Given the description of an element on the screen output the (x, y) to click on. 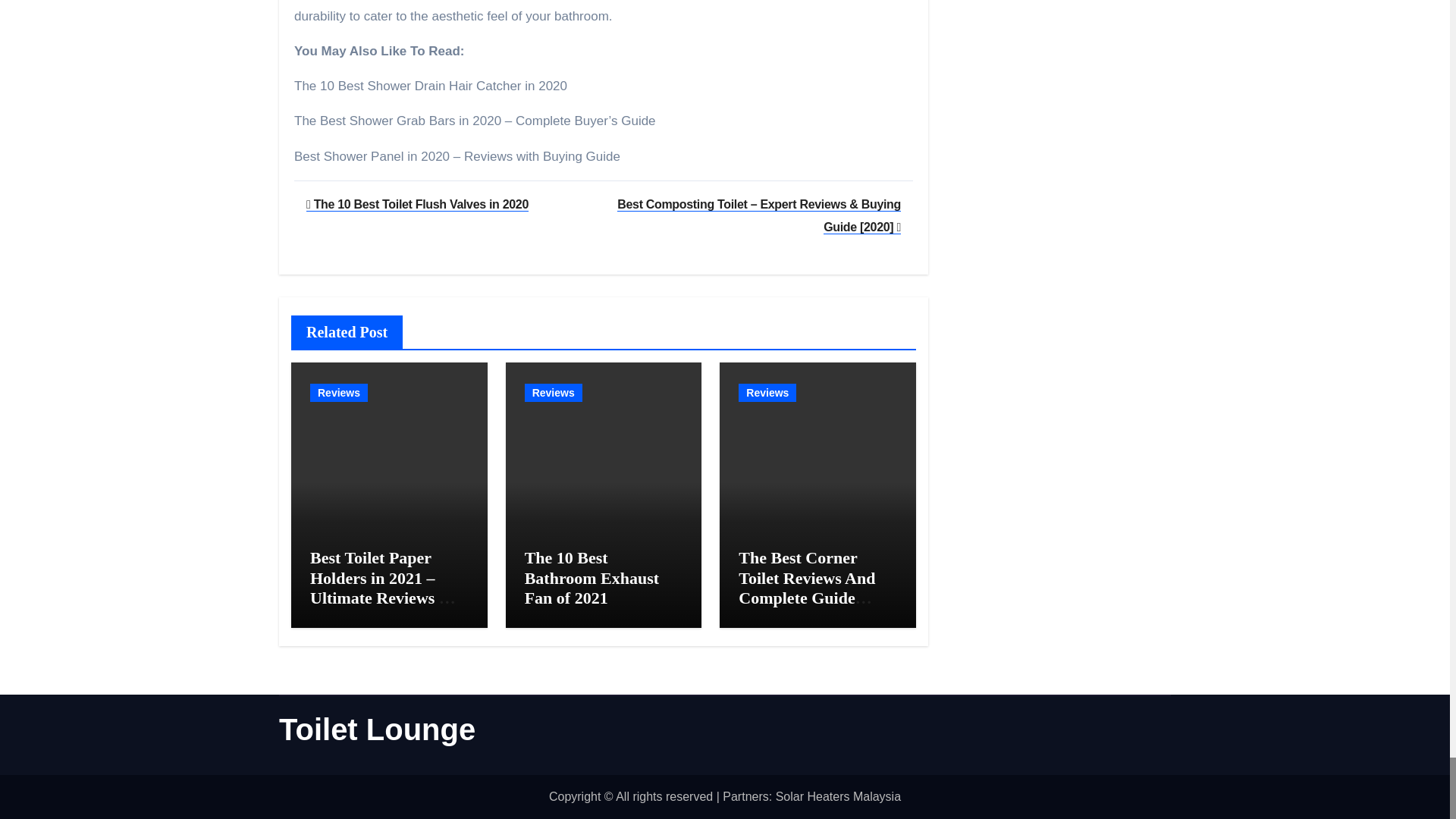
Reviews (339, 393)
The 10 Best Toilet Flush Valves in 2020 (416, 204)
